Given the description of an element on the screen output the (x, y) to click on. 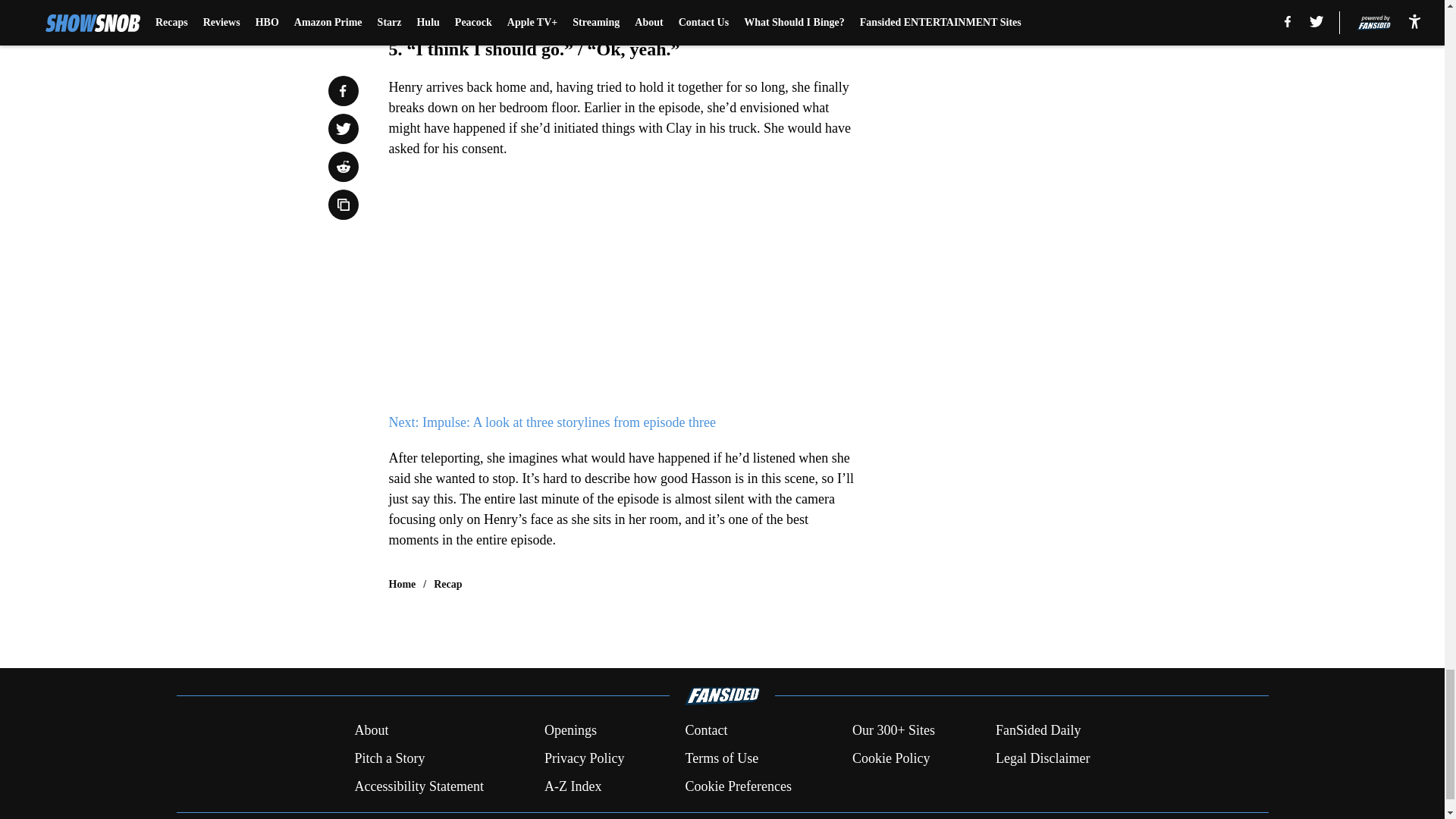
Recap (447, 584)
Home (401, 584)
About (370, 730)
Next: Impulse: A look at three storylines from episode three (551, 421)
